Given the description of an element on the screen output the (x, y) to click on. 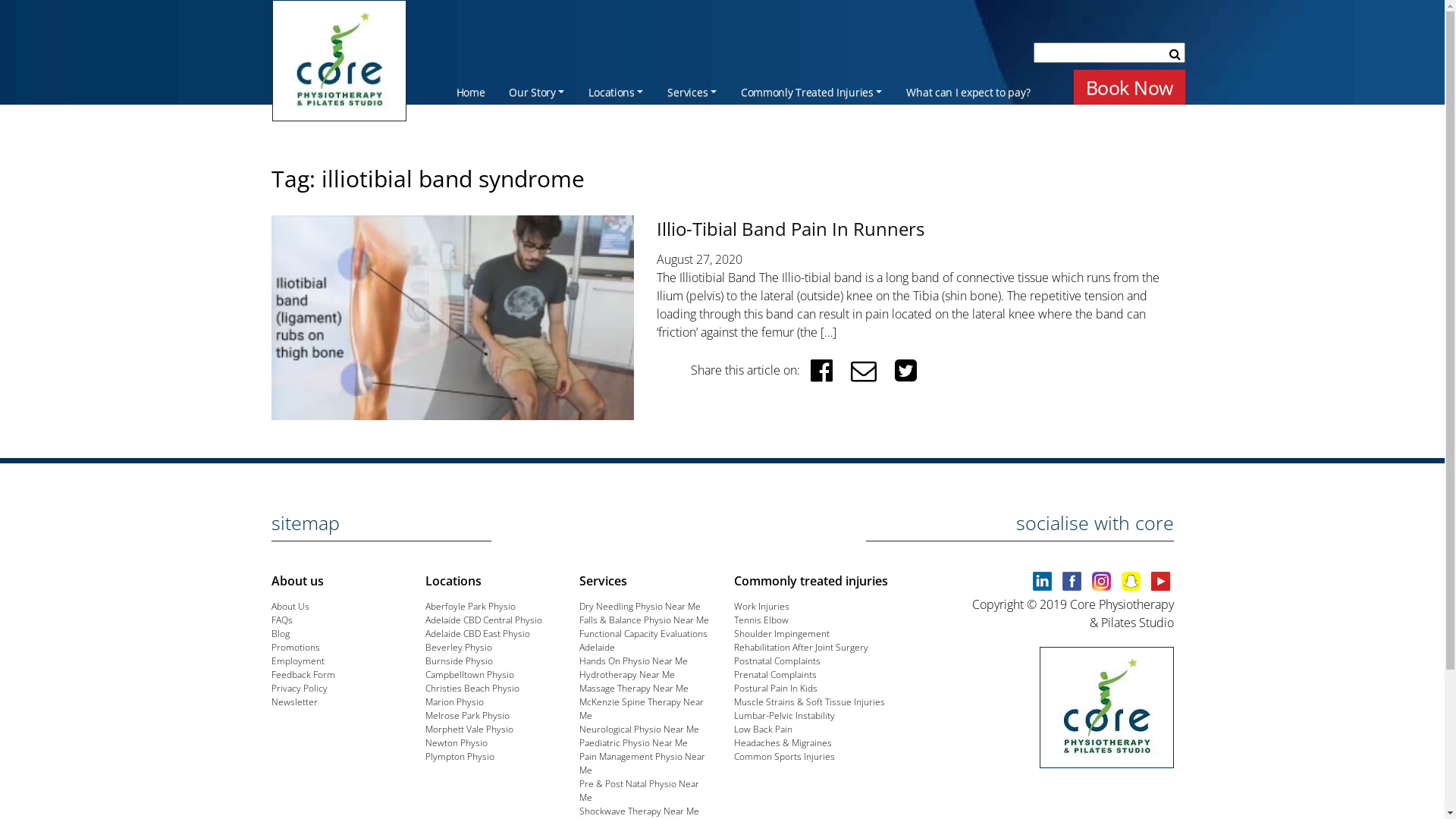
Melrose Park Physio Element type: text (467, 715)
Privacy Policy Element type: text (299, 687)
Locations Element type: text (615, 90)
Postnatal Complaints Element type: text (777, 660)
Dry Needling Physio Near Me Element type: text (639, 605)
FAQs Element type: text (281, 619)
Shoulder Impingement Element type: text (781, 633)
Neurological Physio Near Me Element type: text (639, 728)
Muscle Strains & Soft Tissue Injuries Element type: text (809, 701)
Tennis Elbow Element type: text (761, 619)
Postural Pain In Kids Element type: text (775, 687)
Functional Capacity Evaluations Adelaide Element type: text (643, 640)
Newton Physio Element type: text (456, 742)
Low Back Pain Element type: text (763, 728)
Adelaide CBD East Physio Element type: text (477, 633)
Morphett Vale Physio Element type: text (469, 728)
Work Injuries Element type: text (761, 605)
Services Element type: text (691, 90)
Book Now Element type: text (1129, 86)
Our Story Element type: text (536, 90)
Hydrotherapy Near Me Element type: text (626, 674)
Paediatric Physio Near Me Element type: text (633, 742)
Headaches & Migraines Element type: text (782, 742)
Prenatal Complaints Element type: text (775, 674)
August 27, 2020 Element type: text (699, 259)
Burnside Physio Element type: text (458, 660)
McKenzie Spine Therapy Near Me Element type: text (641, 708)
Home Element type: text (470, 90)
Newsletter Element type: text (294, 701)
Plympton Physio Element type: text (459, 755)
Employment Element type: text (297, 660)
Beverley Physio Element type: text (458, 646)
Feedback Form Element type: text (303, 674)
What can I expect to pay? Element type: text (967, 90)
Marion Physio Element type: text (454, 701)
Campbelltown Physio Element type: text (469, 674)
Aberfoyle Park Physio Element type: text (470, 605)
Adelaide CBD Central Physio Element type: text (483, 619)
Shockwave Therapy Near Me Element type: text (639, 810)
Promotions Element type: text (295, 646)
Hands On Physio Near Me Element type: text (633, 660)
Falls & Balance Physio Near Me Element type: text (644, 619)
Rehabilitation After Joint Surgery Element type: text (801, 646)
Massage Therapy Near Me Element type: text (633, 687)
Illio-Tibial Band Pain In Runners Element type: text (790, 228)
Commonly Treated Injuries Element type: text (811, 90)
Lumbar-Pelvic Instability Element type: text (784, 715)
About Us Element type: text (290, 605)
Pre & Post Natal Physio Near Me Element type: text (639, 790)
Christies Beach Physio Element type: text (472, 687)
Blog Element type: text (280, 633)
Pain Management Physio Near Me Element type: text (642, 762)
Common Sports Injuries Element type: text (784, 755)
